Given the description of an element on the screen output the (x, y) to click on. 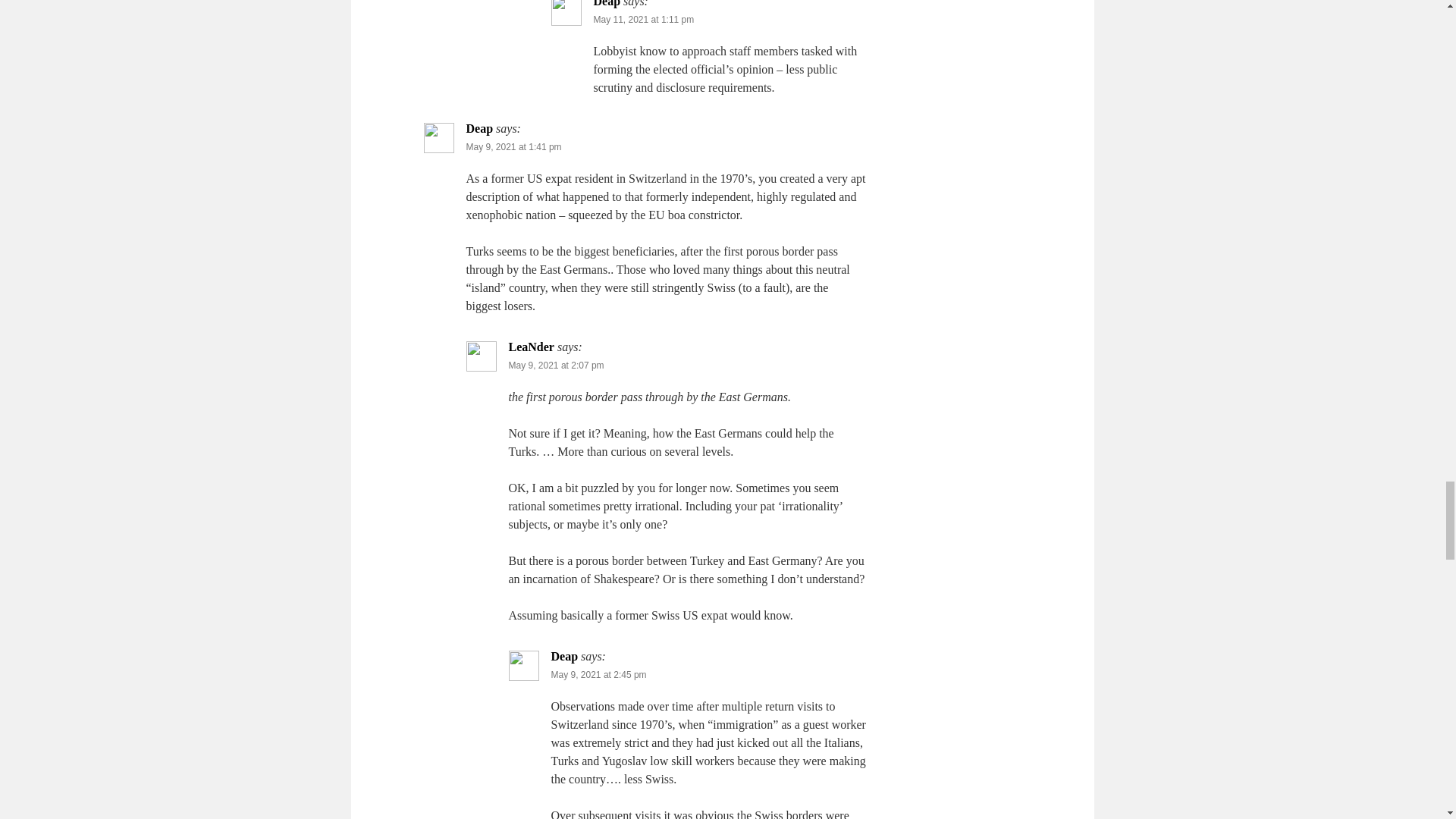
May 9, 2021 at 1:41 pm (512, 146)
May 11, 2021 at 1:11 pm (643, 19)
May 9, 2021 at 2:45 pm (598, 674)
May 9, 2021 at 2:07 pm (556, 365)
